Given the description of an element on the screen output the (x, y) to click on. 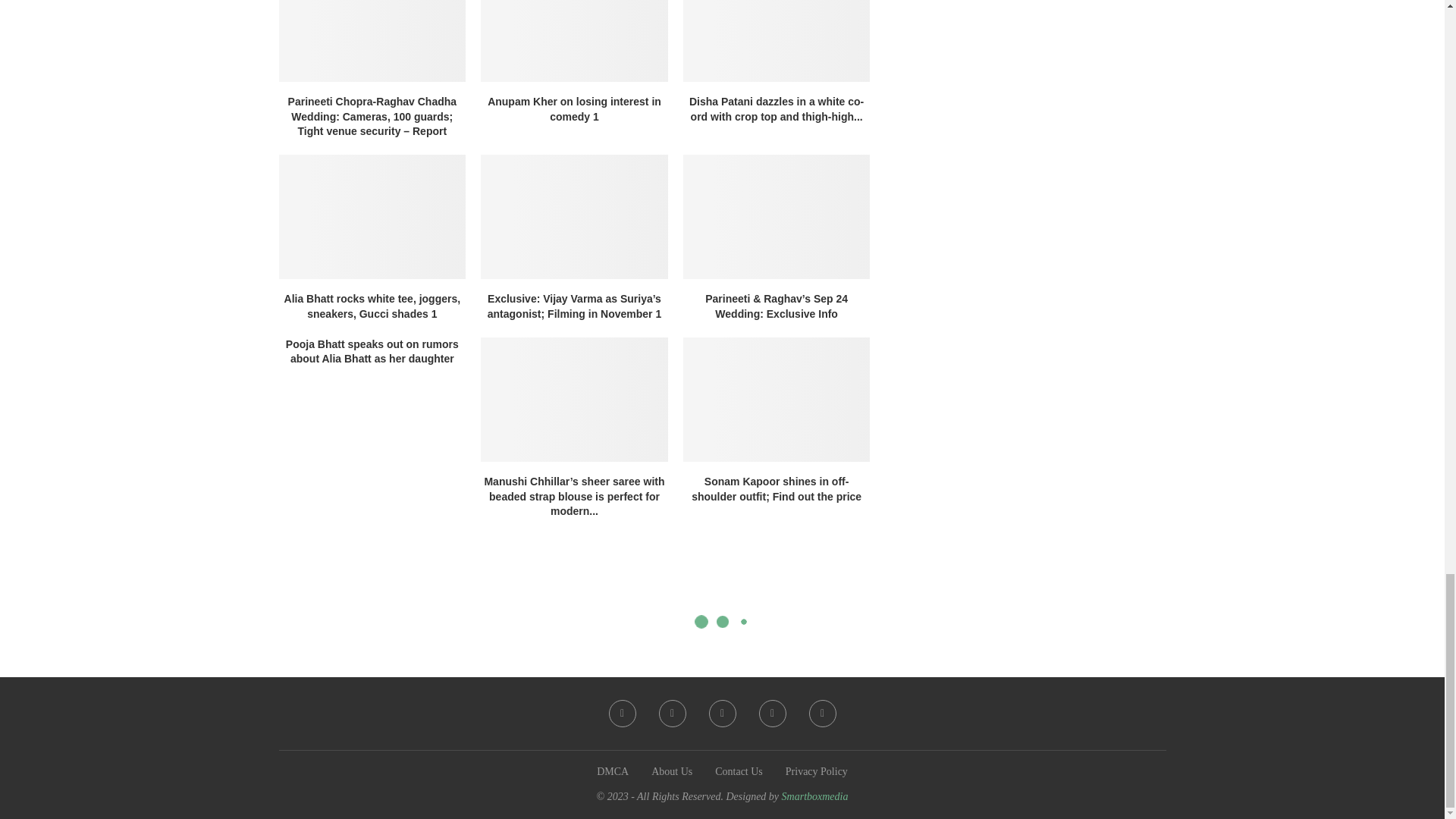
Anupam Kher on losing interest in comedy 1 (574, 40)
